Given the description of an element on the screen output the (x, y) to click on. 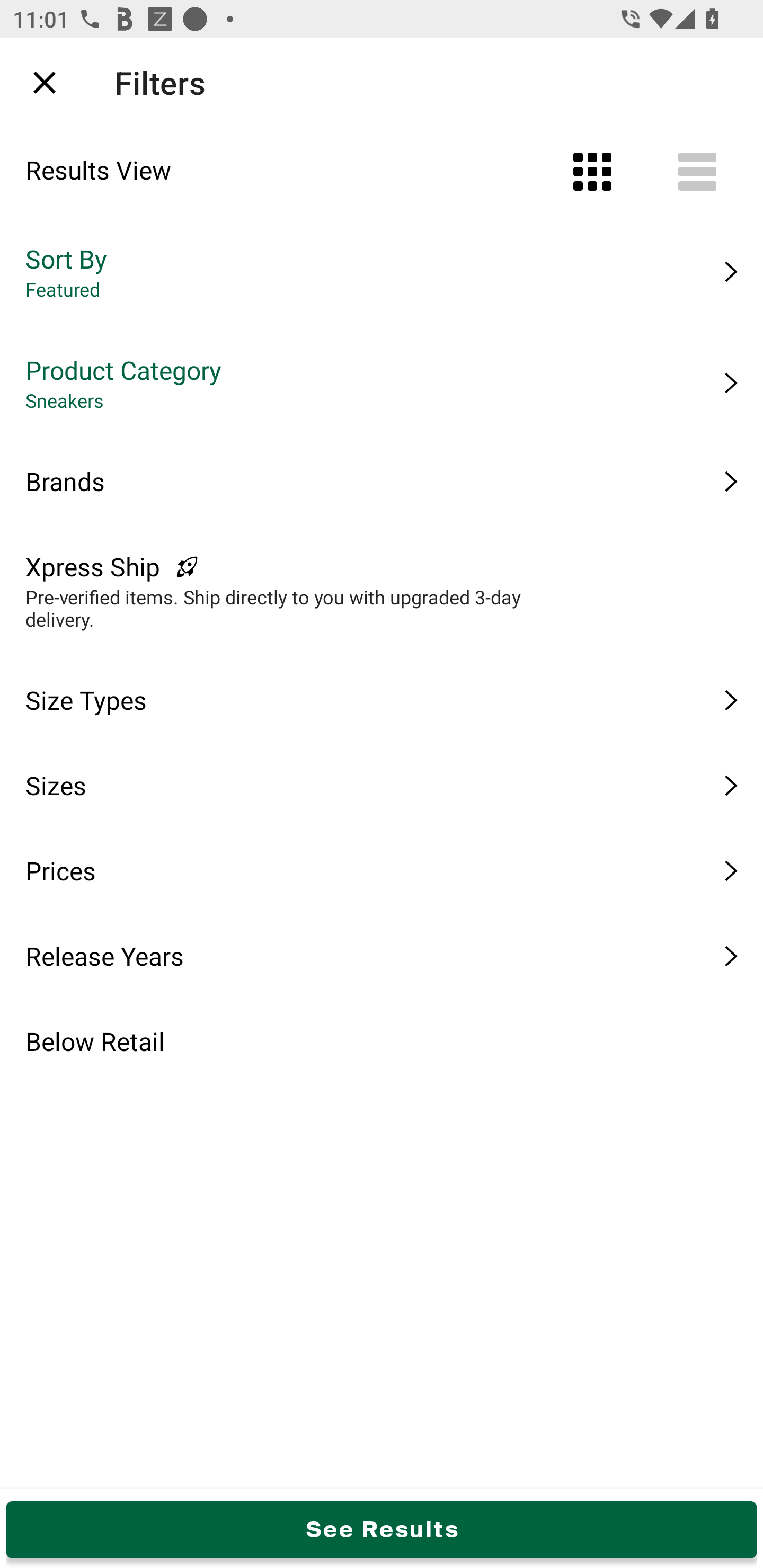
Search by brand, color, etc. (351, 82)
Grid View (591, 171)
List View (697, 171)
Sort By Featured Next (381, 271)
Product Category Sneakers Next (381, 383)
Brands Next (381, 481)
Size Types Next (381, 699)
Sizes Next (381, 785)
Prices Next (381, 869)
Release Years Next (381, 955)
Below Retail (381, 1040)
See Results (381, 1529)
